Given the description of an element on the screen output the (x, y) to click on. 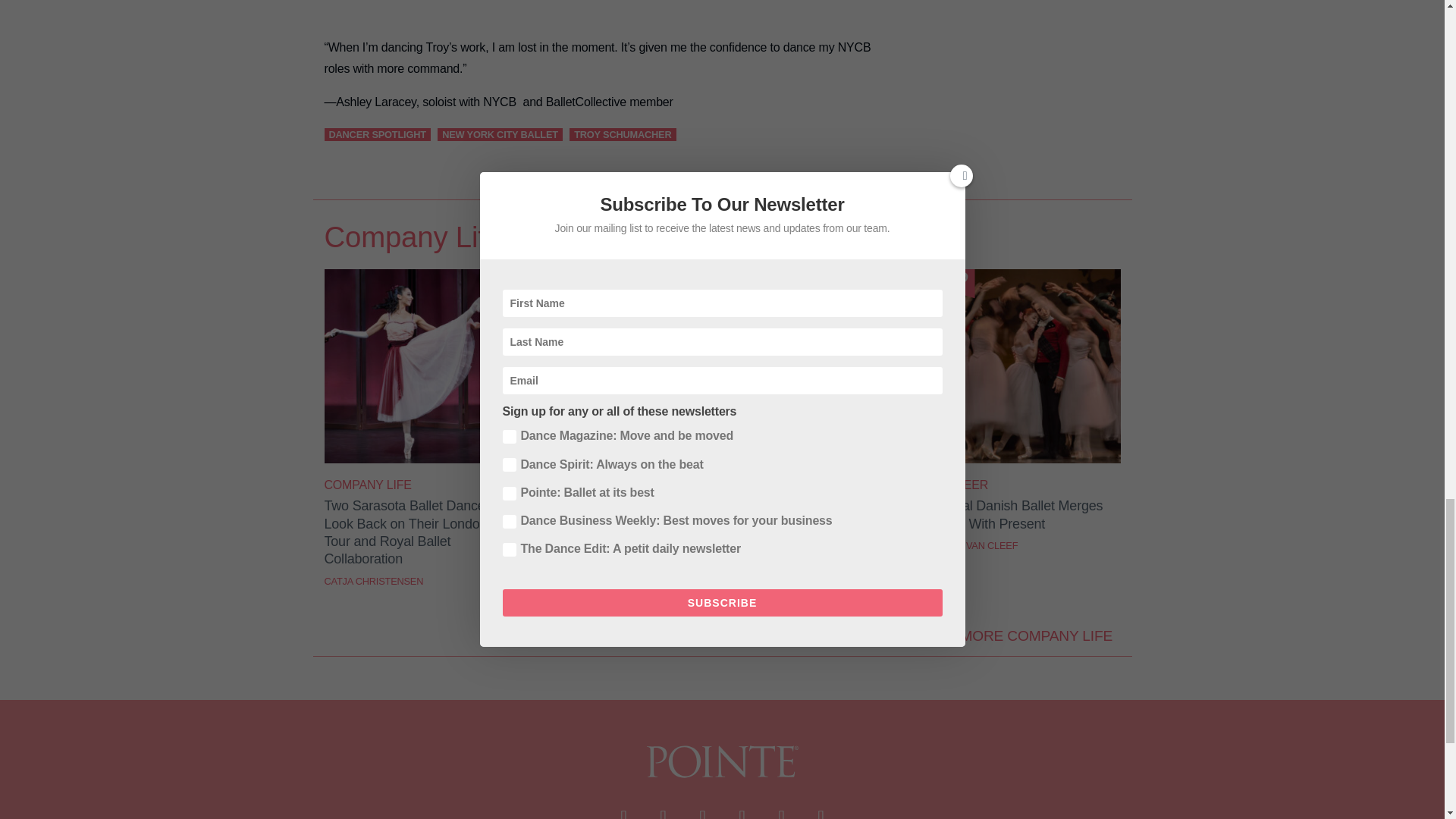
Royal Danish Ballet Merges Past With Present (1030, 459)
Follow on Facebook (623, 809)
Follow on Instagram (702, 809)
Follow on Youtube (741, 809)
Follow on Pinterest (780, 809)
Follow on Twitter (662, 809)
